Given the description of an element on the screen output the (x, y) to click on. 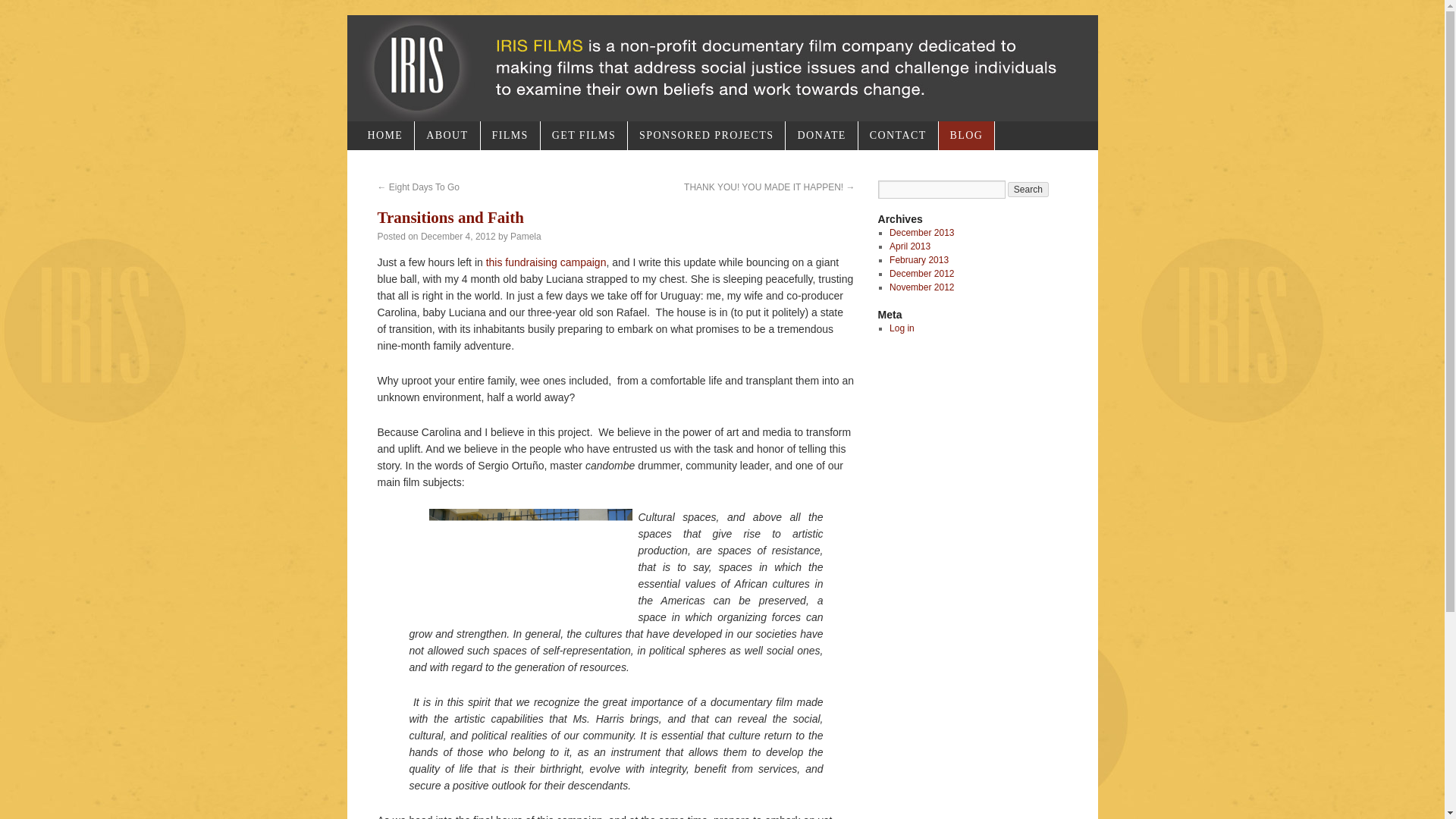
November 2012 (921, 286)
February 2013 (919, 259)
BLOG (966, 135)
December 4, 2012 (458, 235)
DONATE (821, 135)
CONTACT (898, 135)
View all posts by Pamela (526, 235)
GET FILMS (583, 135)
Search (1027, 189)
Log in (901, 327)
